Given the description of an element on the screen output the (x, y) to click on. 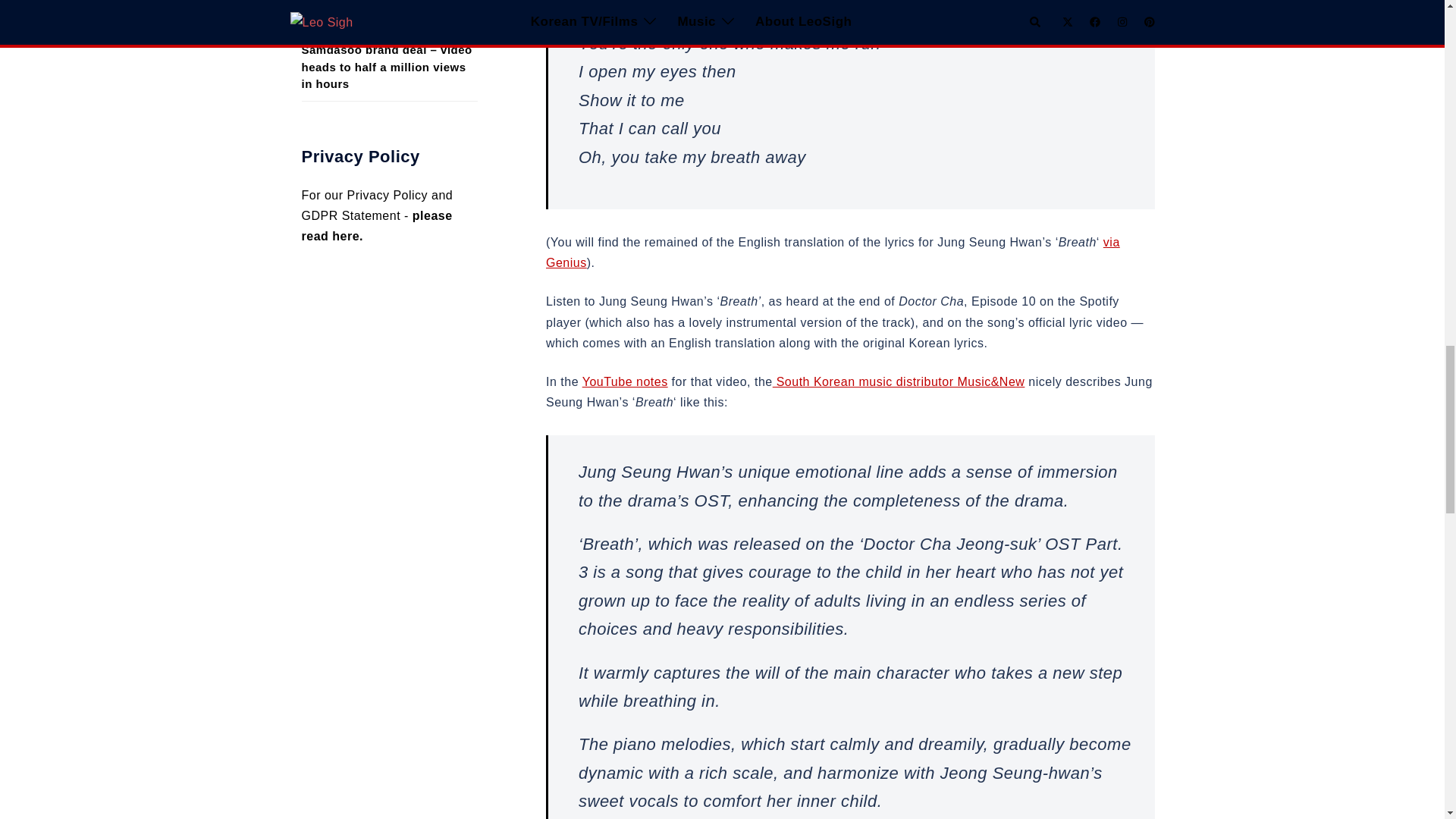
via Genius (832, 252)
YouTube notes (625, 381)
